Given the description of an element on the screen output the (x, y) to click on. 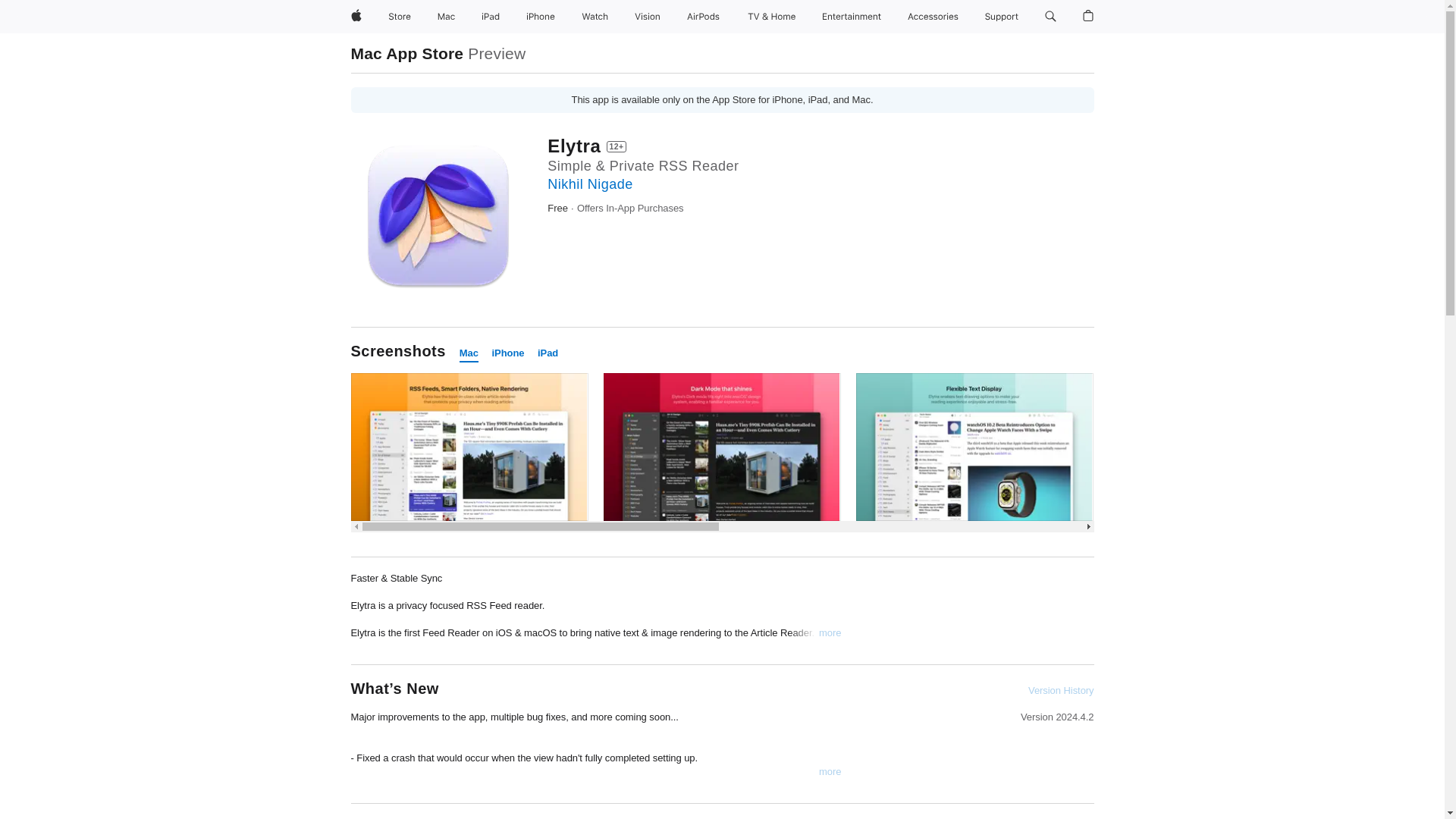
iPad (490, 16)
Store (398, 16)
AirPods (703, 16)
Mac App Store (406, 53)
Accessories (932, 16)
iPhone (508, 353)
Nikhil Nigade (589, 183)
Support (1001, 16)
Vision (647, 16)
more (829, 771)
iPad (547, 353)
Mac (469, 353)
Entertainment (851, 16)
Watch (594, 16)
iPhone (539, 16)
